Given the description of an element on the screen output the (x, y) to click on. 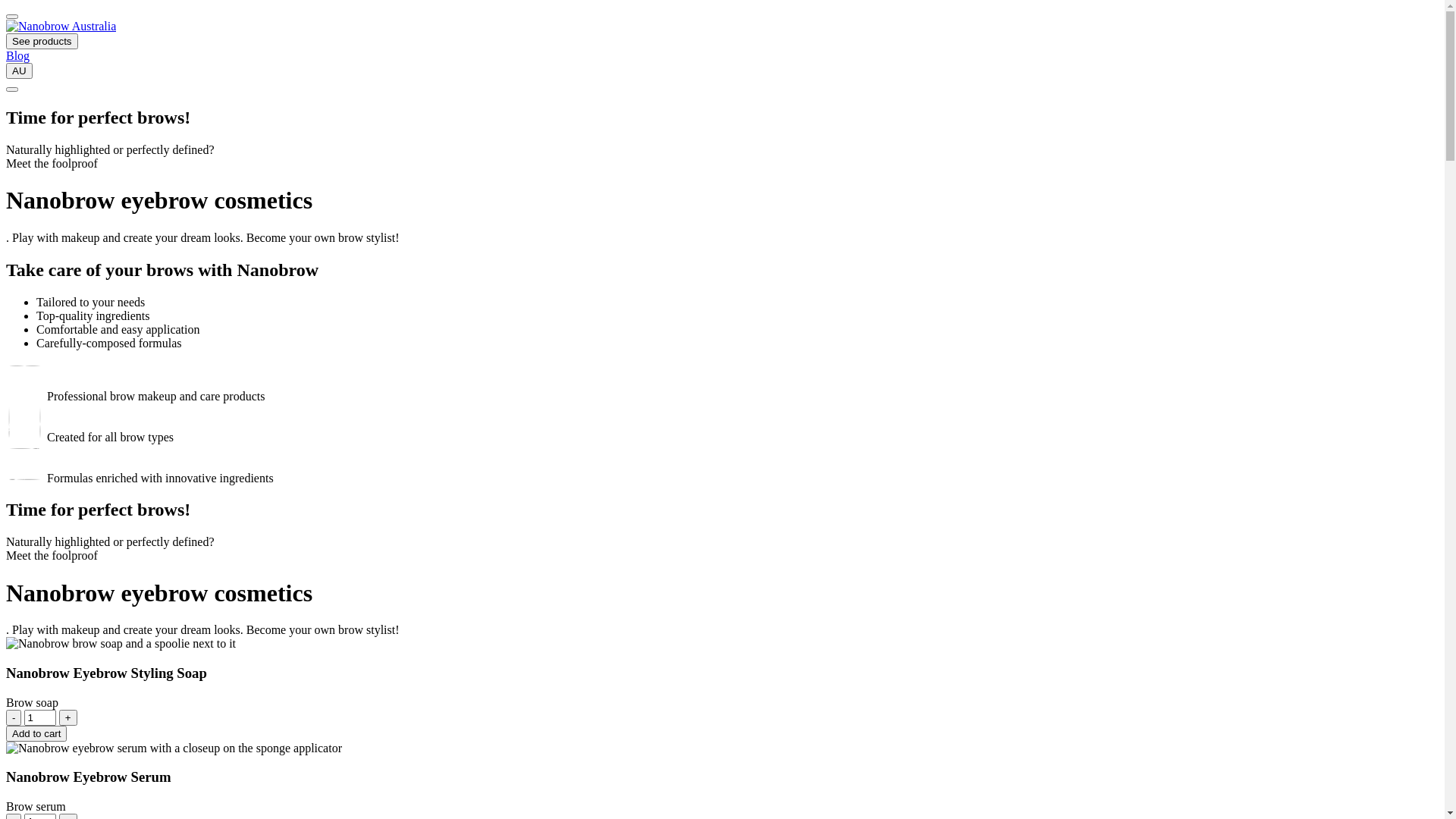
- Element type: text (13, 717)
Blog Element type: text (17, 55)
+ Element type: text (68, 717)
See products Element type: text (42, 41)
Add to cart Element type: text (36, 733)
AU Element type: text (19, 70)
